Given the description of an element on the screen output the (x, y) to click on. 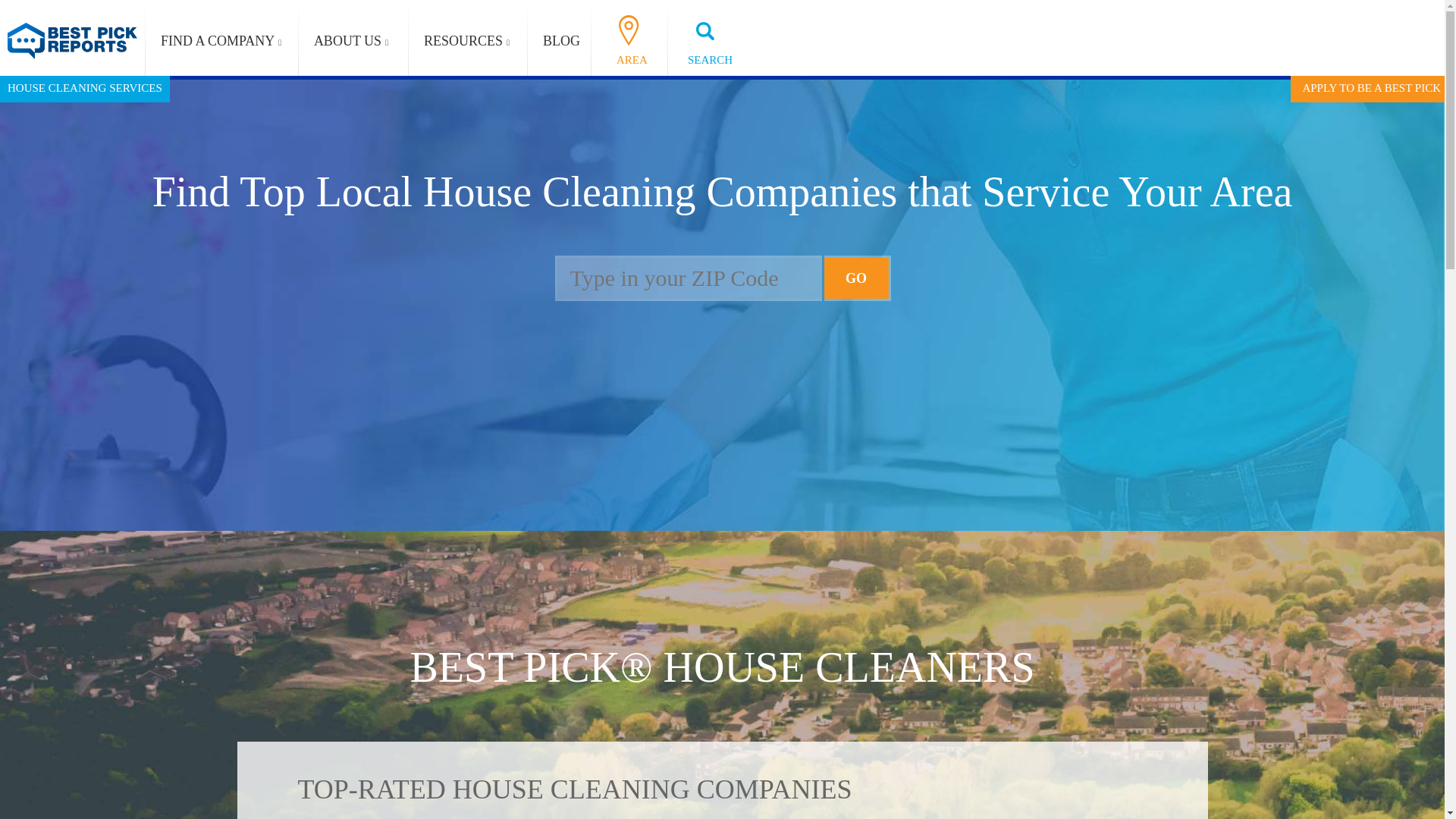
Go (856, 278)
BLOG (561, 40)
Please enter a 5-digit ZIP Code (688, 278)
Go (856, 278)
